Given the description of an element on the screen output the (x, y) to click on. 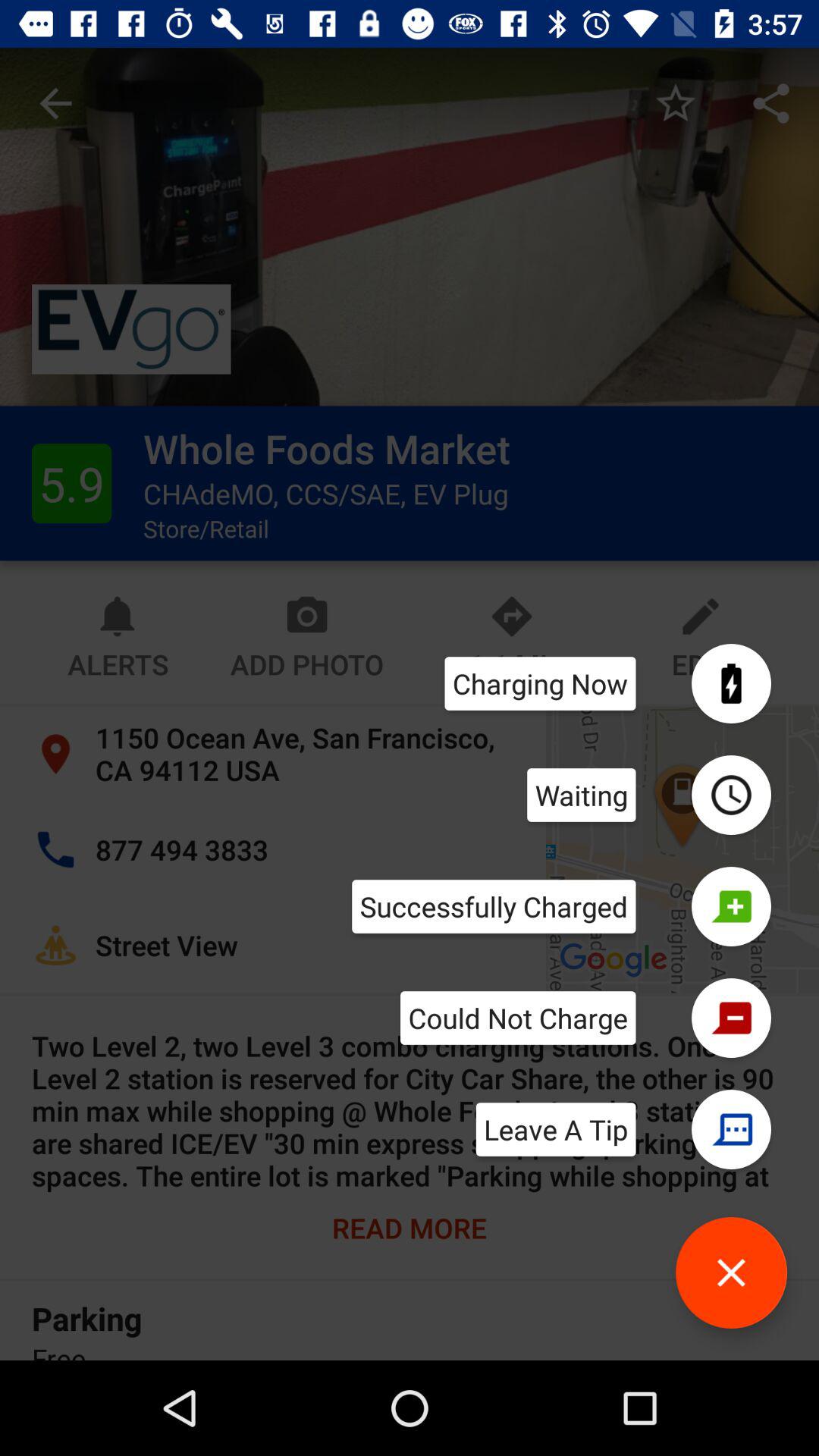
close window (731, 1272)
